Given the description of an element on the screen output the (x, y) to click on. 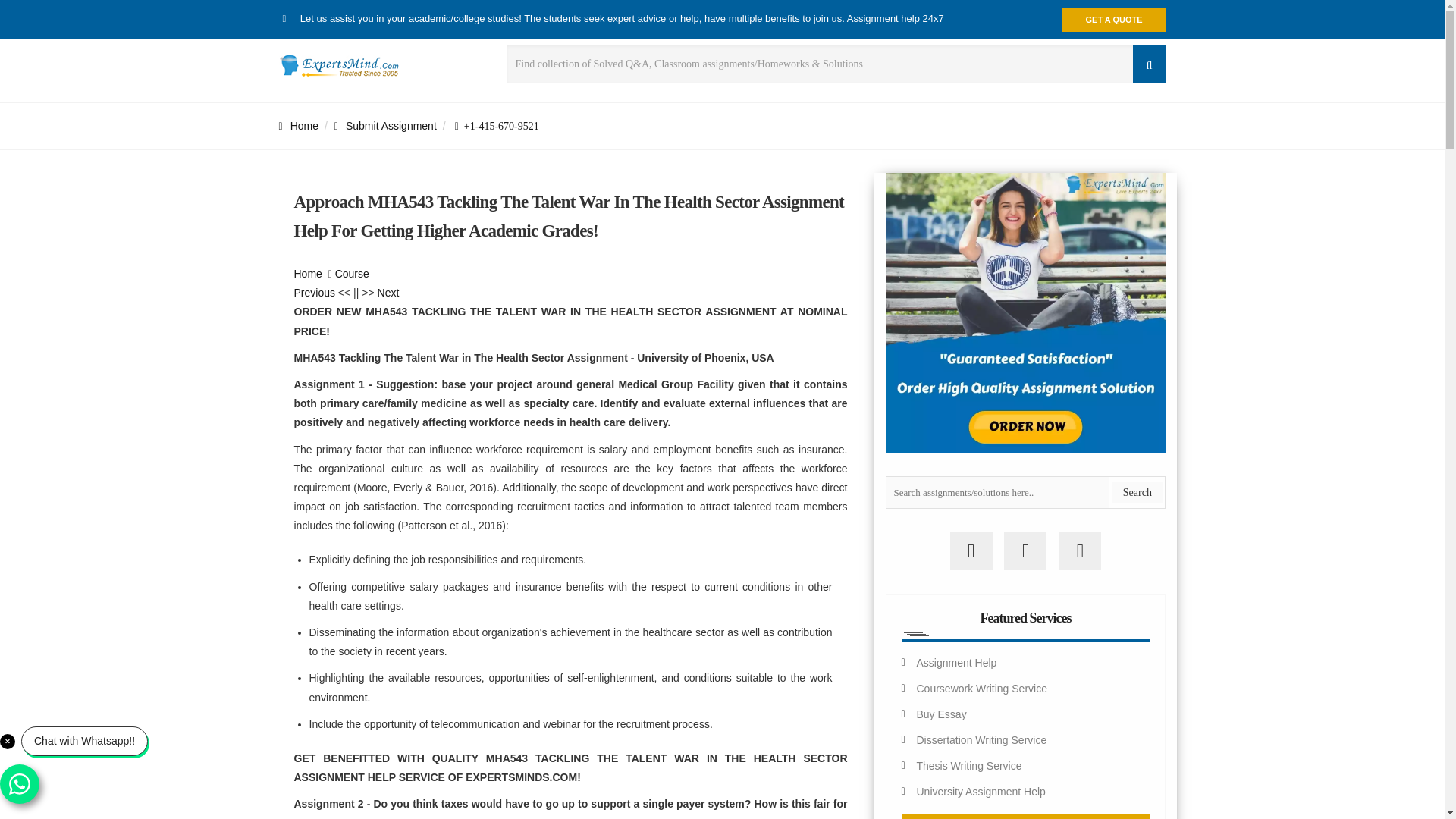
Search (1136, 492)
Course (351, 273)
assignment help (307, 273)
GET A QUOTE (1114, 19)
Buy Essay (940, 714)
Thesis Writing Service (968, 766)
Submit Assignment (385, 125)
University Assignment Help (980, 791)
Previous (314, 292)
Dissertation Writing Service (980, 739)
